Given the description of an element on the screen output the (x, y) to click on. 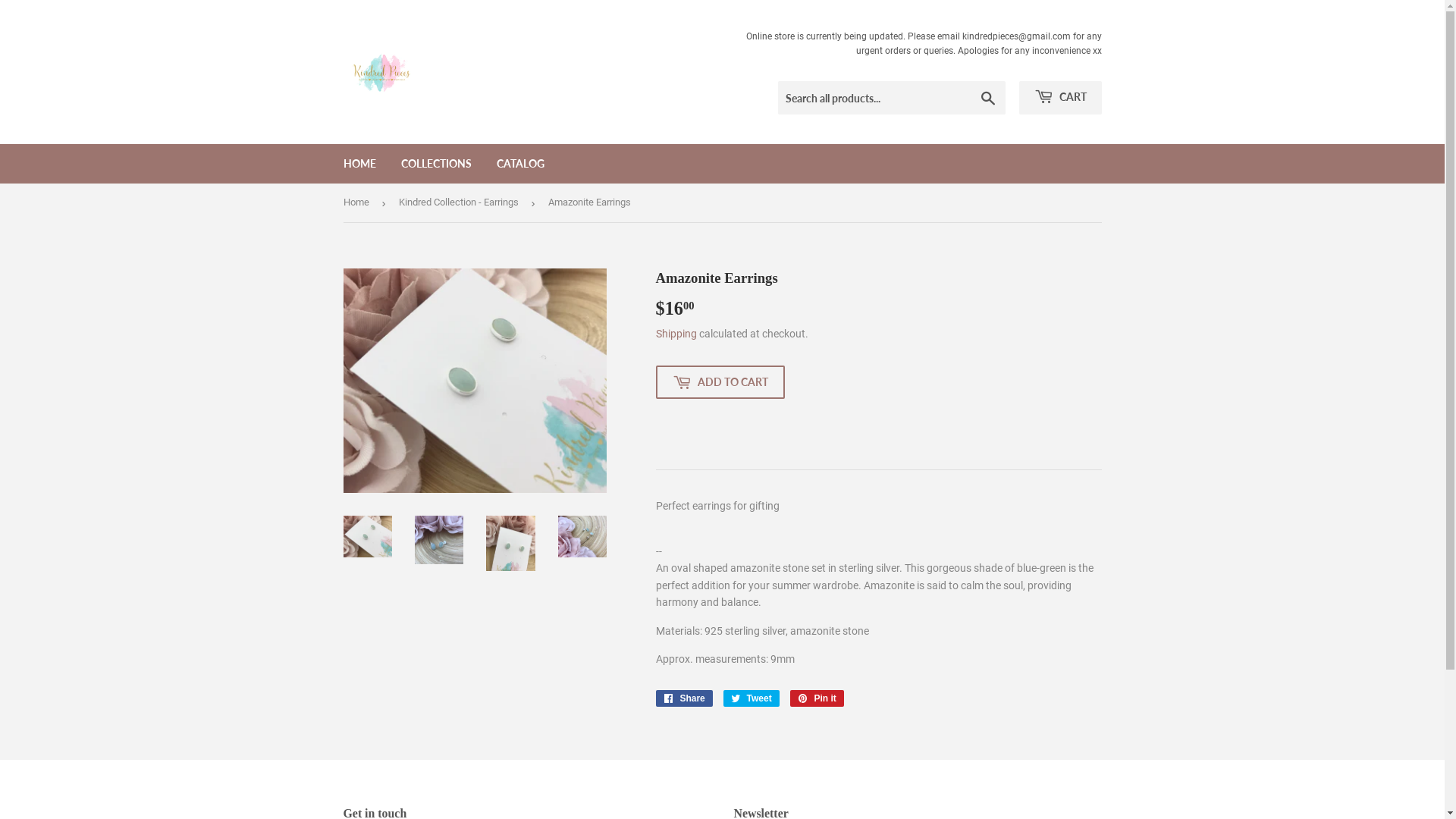
COLLECTIONS Element type: text (436, 163)
Home Element type: text (357, 202)
Kindred Collection - Earrings Element type: text (461, 202)
Search Element type: text (987, 98)
ADD TO CART Element type: text (719, 381)
Share
Share on Facebook Element type: text (683, 698)
CATALOG Element type: text (520, 163)
Pin it
Pin on Pinterest Element type: text (817, 698)
Tweet
Tweet on Twitter Element type: text (751, 698)
HOME Element type: text (359, 163)
Shipping Element type: text (675, 333)
CART Element type: text (1060, 97)
